Given the description of an element on the screen output the (x, y) to click on. 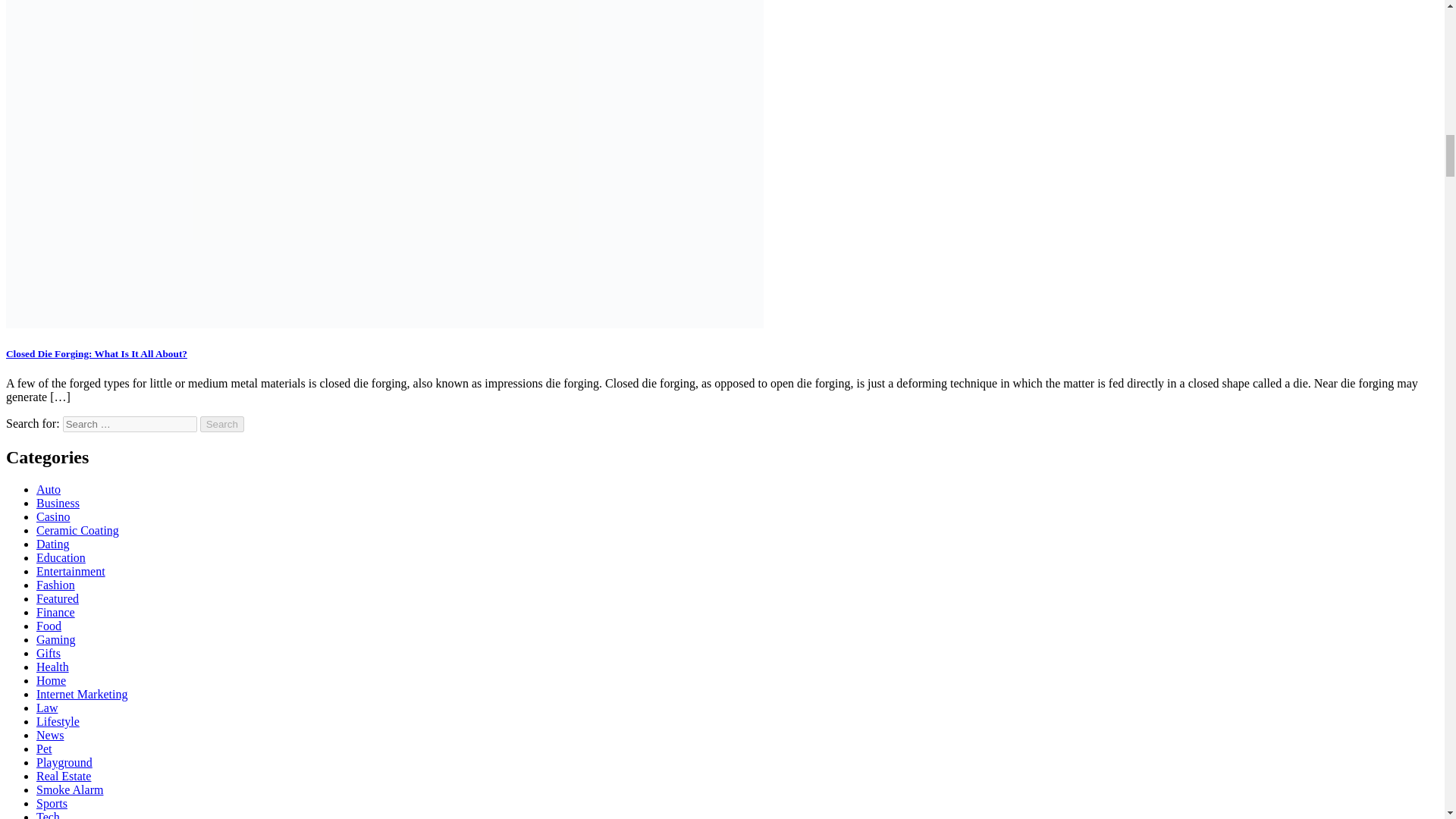
Dating (52, 543)
Search (222, 424)
Search (222, 424)
Search (222, 424)
Auto (48, 489)
Casino (52, 516)
Finance (55, 612)
Fashion (55, 584)
Ceramic Coating (77, 530)
Featured (57, 598)
